Given the description of an element on the screen output the (x, y) to click on. 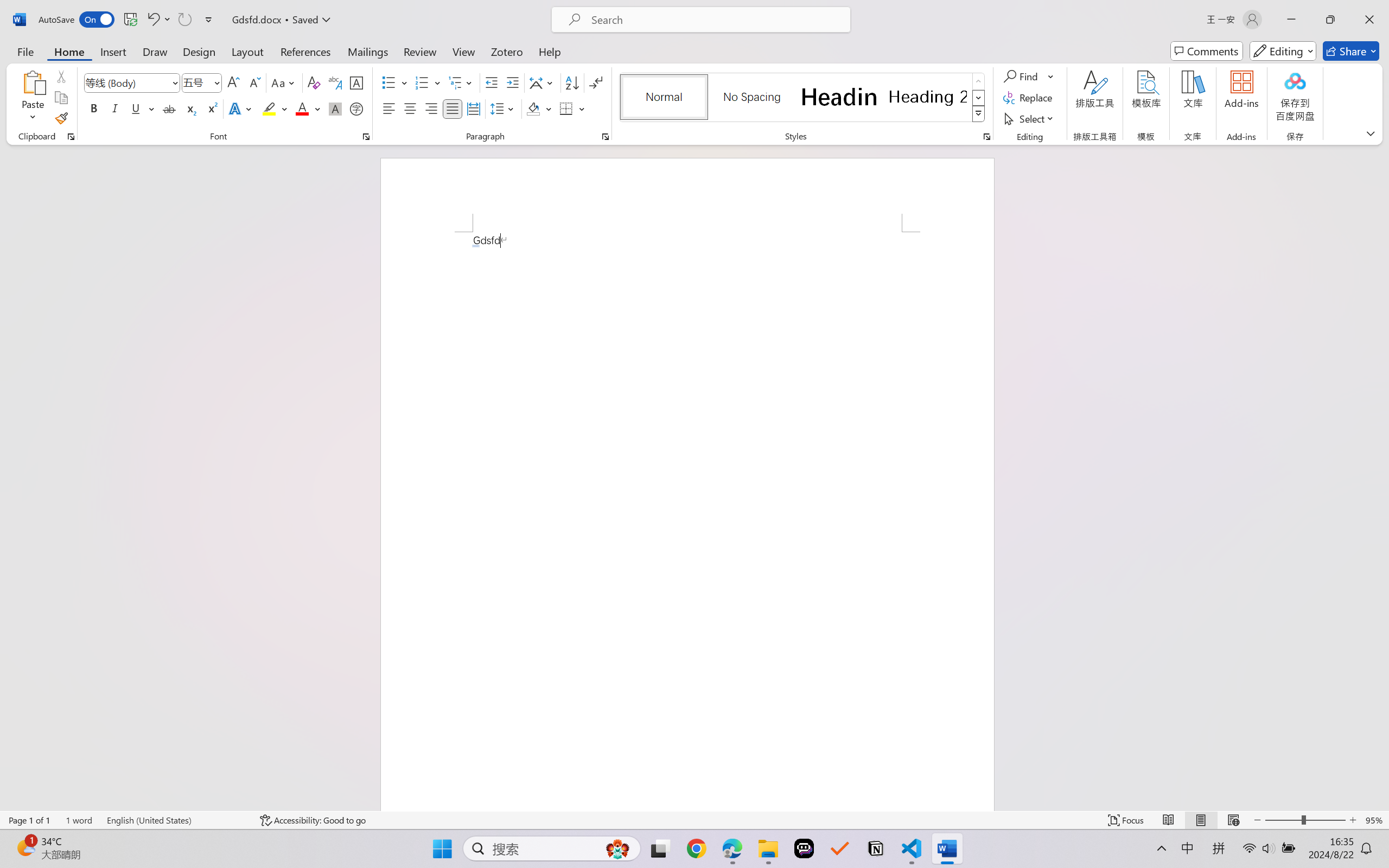
Styles (978, 113)
Shrink Font (253, 82)
Class: MsoCommandBar (694, 819)
Shading RGB(0, 0, 0) (533, 108)
Row up (978, 81)
